Given the description of an element on the screen output the (x, y) to click on. 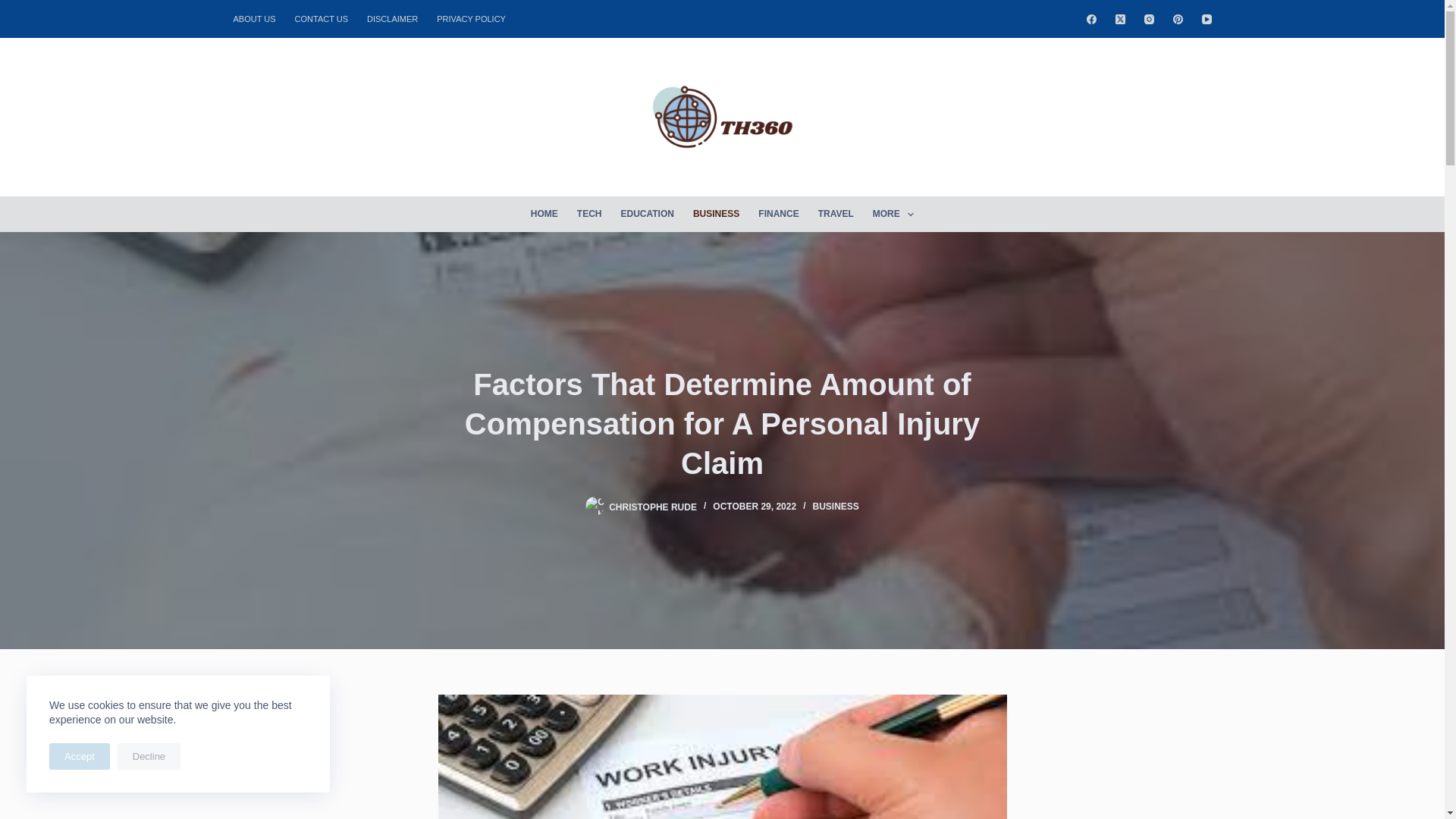
DISCLAIMER (393, 18)
EDUCATION (646, 213)
HOME (544, 213)
ABOUT US (258, 18)
FINANCE (778, 213)
MORE (893, 213)
Skip to content (15, 7)
Decline (148, 755)
TECH (589, 213)
Accept (79, 755)
